Given the description of an element on the screen output the (x, y) to click on. 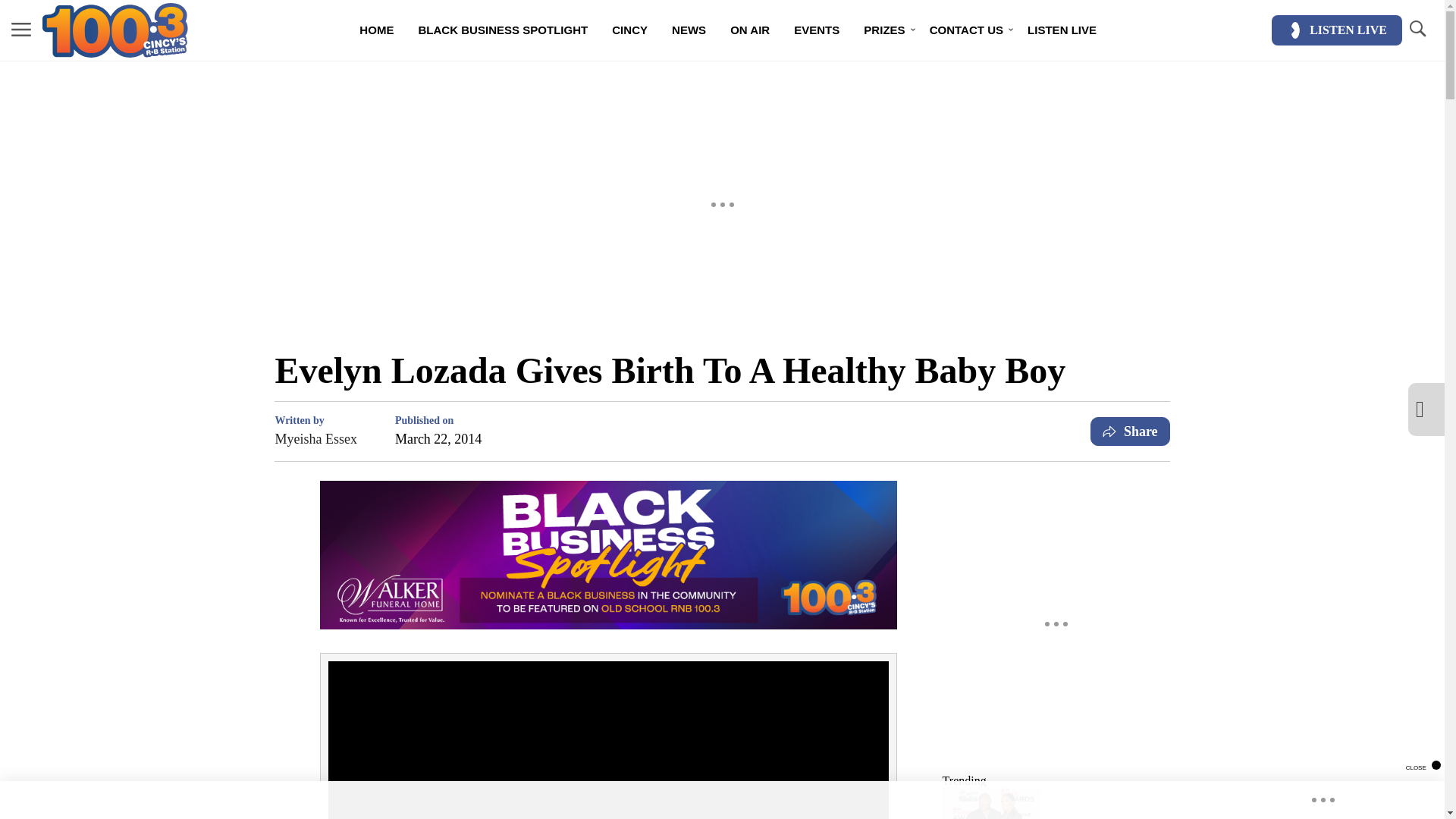
NEWS (688, 30)
LISTEN LIVE (1336, 30)
CINCY (629, 30)
Share (1130, 430)
TOGGLE SEARCH (1417, 28)
Myeisha Essex (315, 438)
PRIZES (884, 30)
HOME (376, 30)
LISTEN LIVE (1061, 30)
ON AIR (749, 30)
TOGGLE SEARCH (1417, 30)
EVENTS (816, 30)
CONTACT US (965, 30)
BLACK BUSINESS SPOTLIGHT (502, 30)
MENU (20, 30)
